Given the description of an element on the screen output the (x, y) to click on. 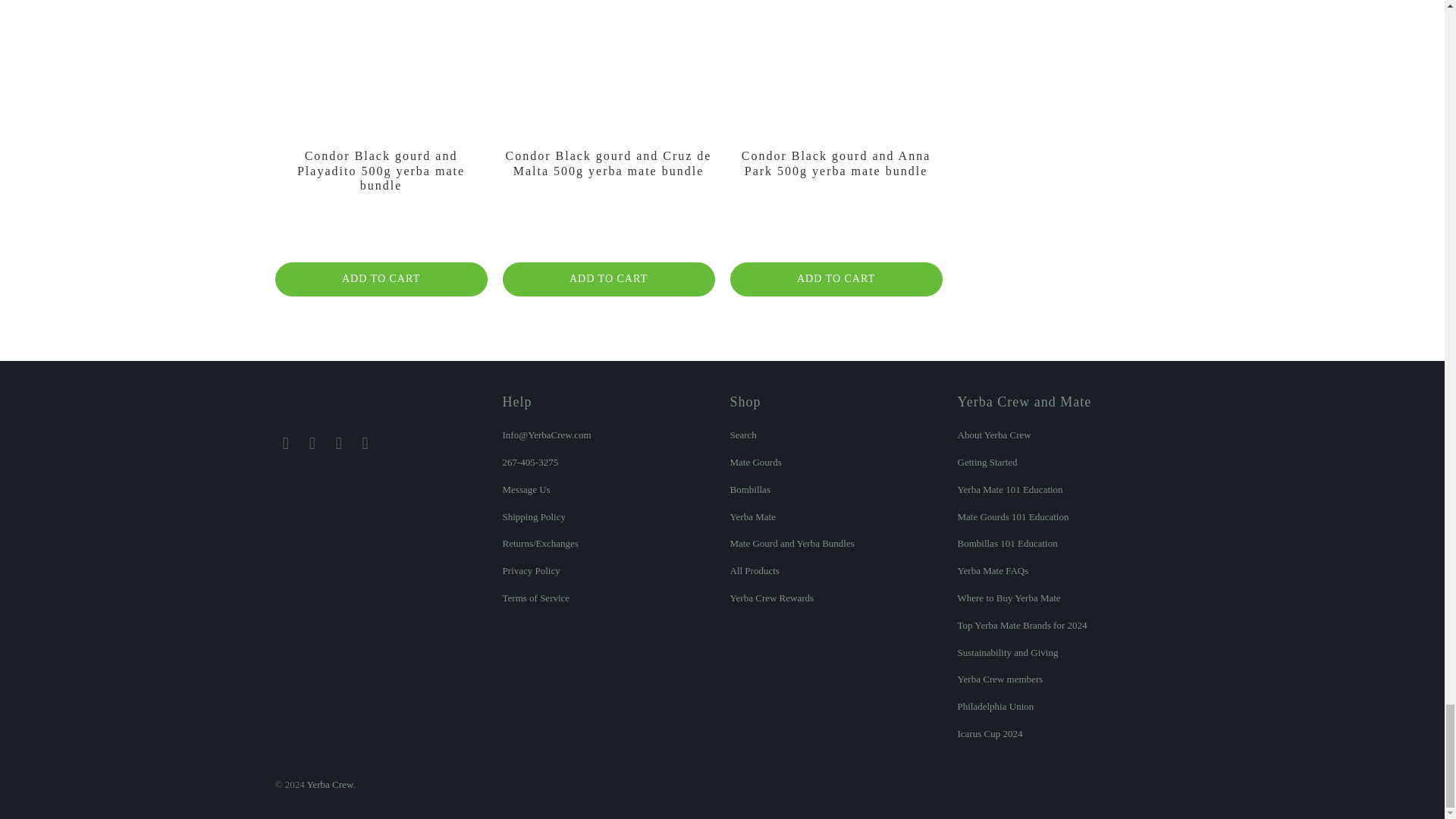
Yerba Crew on Facebook (312, 443)
Yerba Crew on YouTube (365, 443)
Email Yerba Crew (286, 443)
Yerba Crew on Instagram (338, 443)
